Given the description of an element on the screen output the (x, y) to click on. 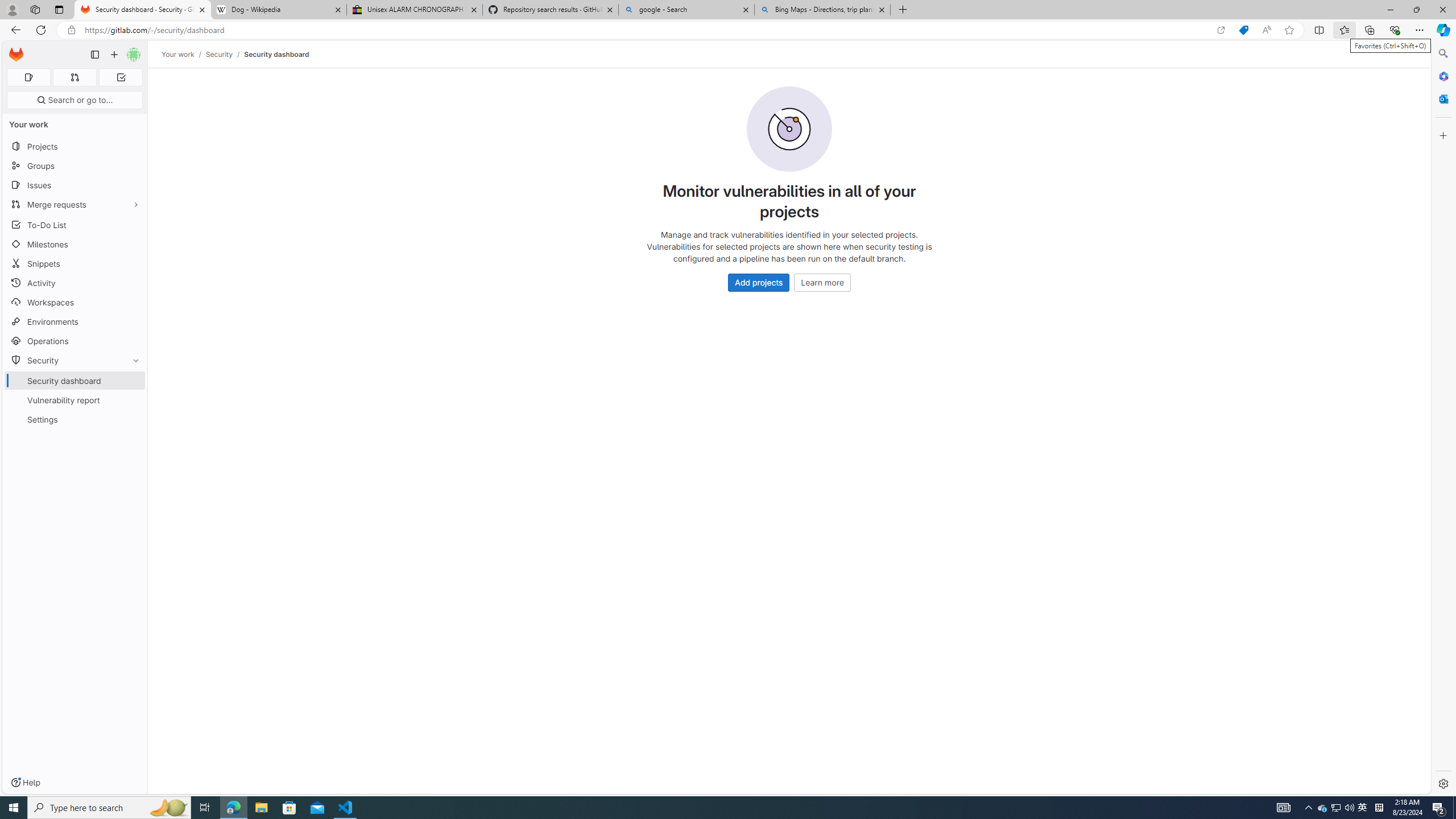
Merge requests (74, 203)
google - Search (685, 9)
Operations (74, 340)
To-Do list 0 (120, 76)
Snippets (74, 262)
Assigned issues 0 (28, 76)
Learn more (821, 282)
